Given the description of an element on the screen output the (x, y) to click on. 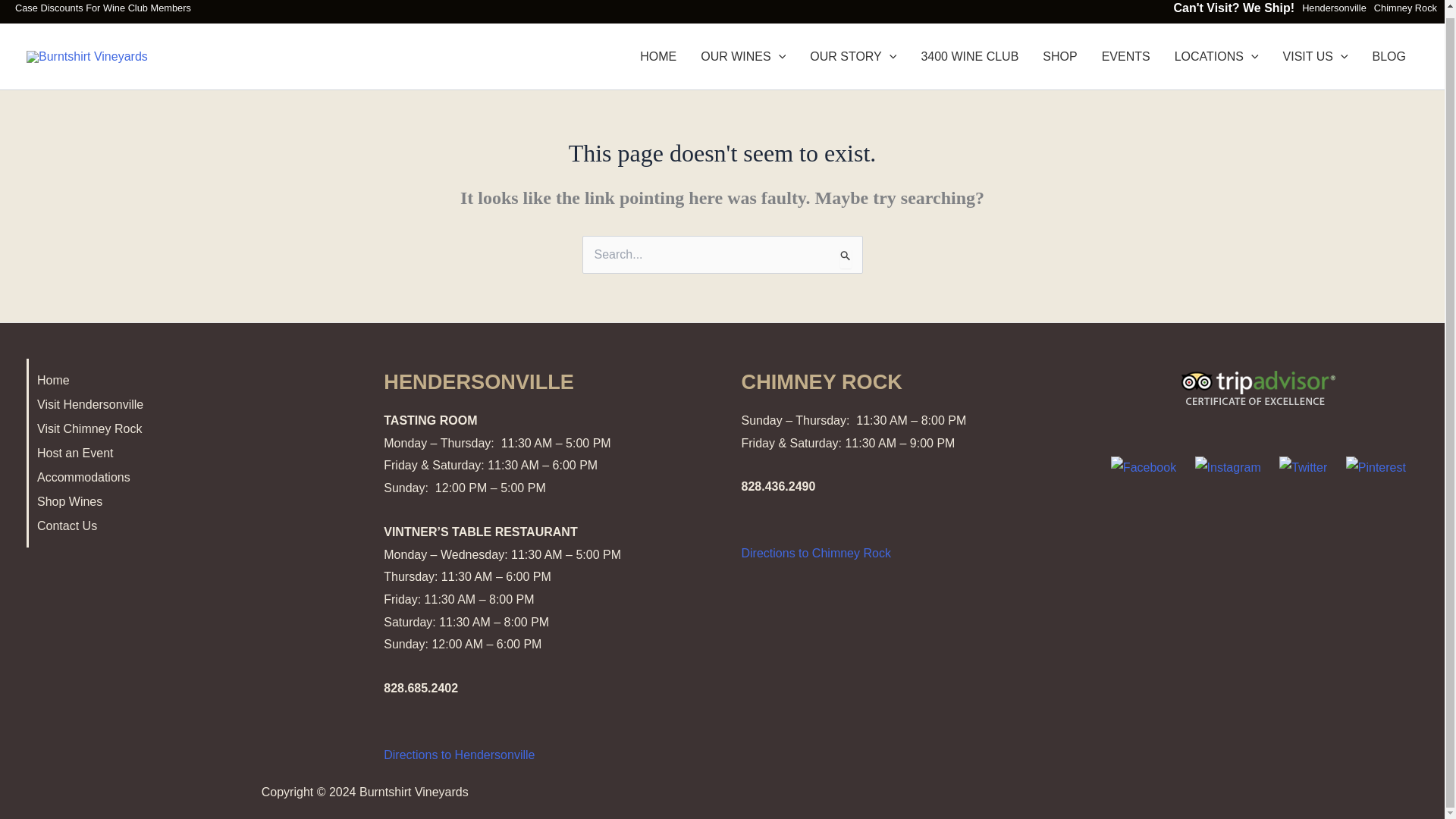
HOME (657, 56)
3400 WINE CLUB (969, 56)
LOCATIONS (1216, 56)
EVENTS (1125, 56)
Hendersonville (1334, 8)
OUR WINES (742, 56)
Chimney Rock (1405, 8)
VISIT US (1315, 56)
OUR STORY (852, 56)
Case Discounts For Wine Club Members (102, 8)
